Given the description of an element on the screen output the (x, y) to click on. 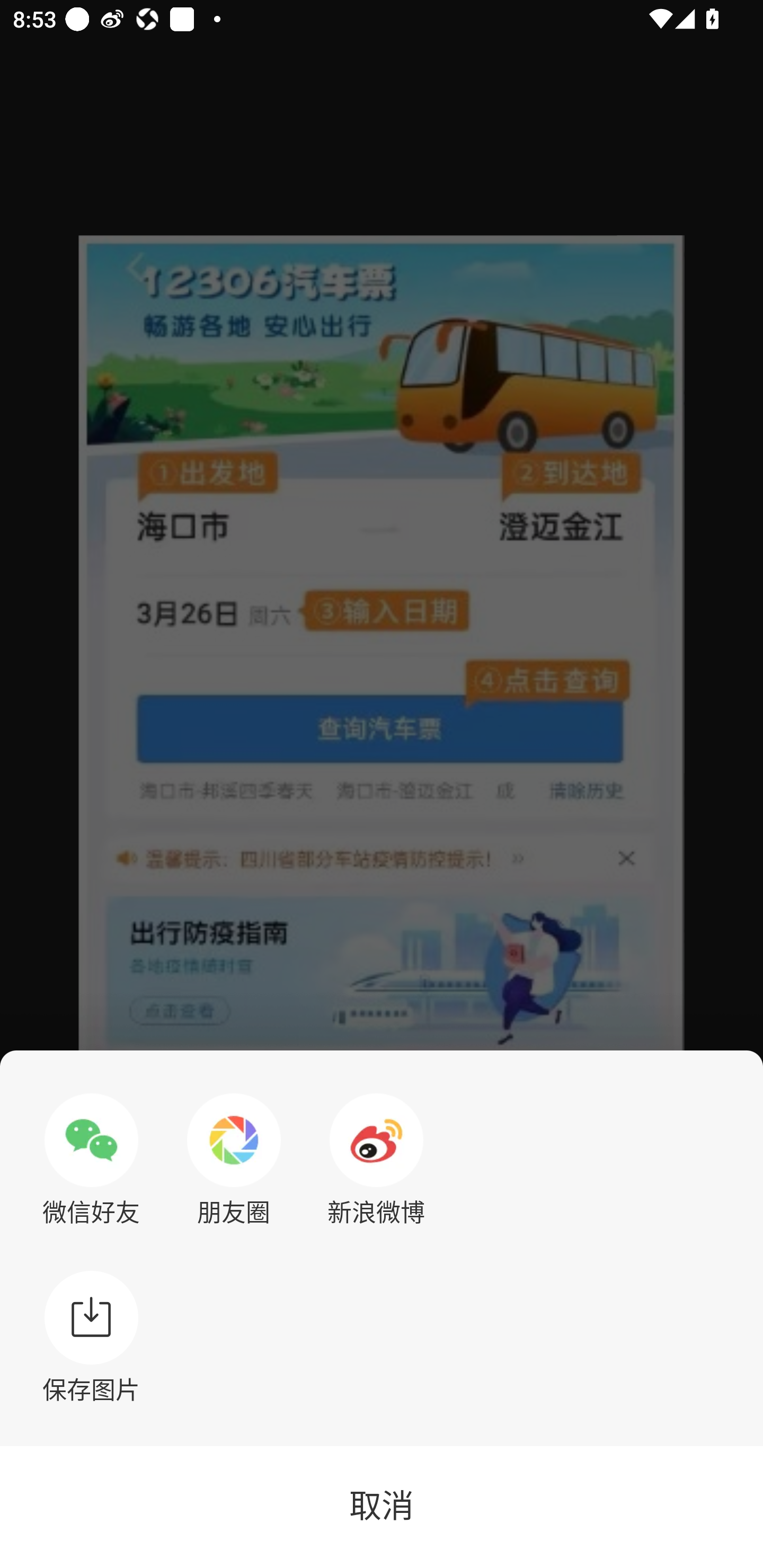
微信好友 (90, 1159)
朋友圈 (233, 1159)
新浪微博 (376, 1159)
 保存图片 保存图片 (90, 1337)
取消 (381, 1506)
